Given the description of an element on the screen output the (x, y) to click on. 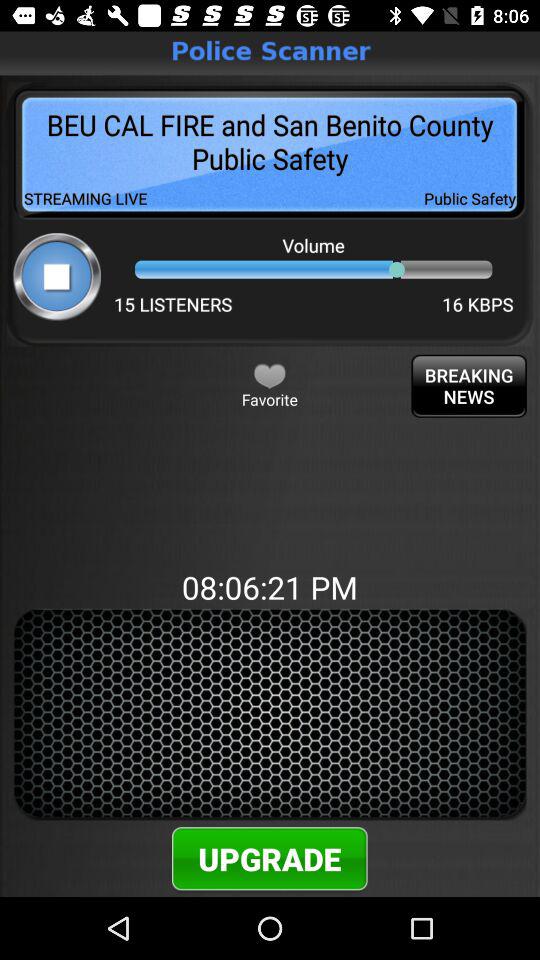
tap the icon next to the favorite icon (468, 385)
